Given the description of an element on the screen output the (x, y) to click on. 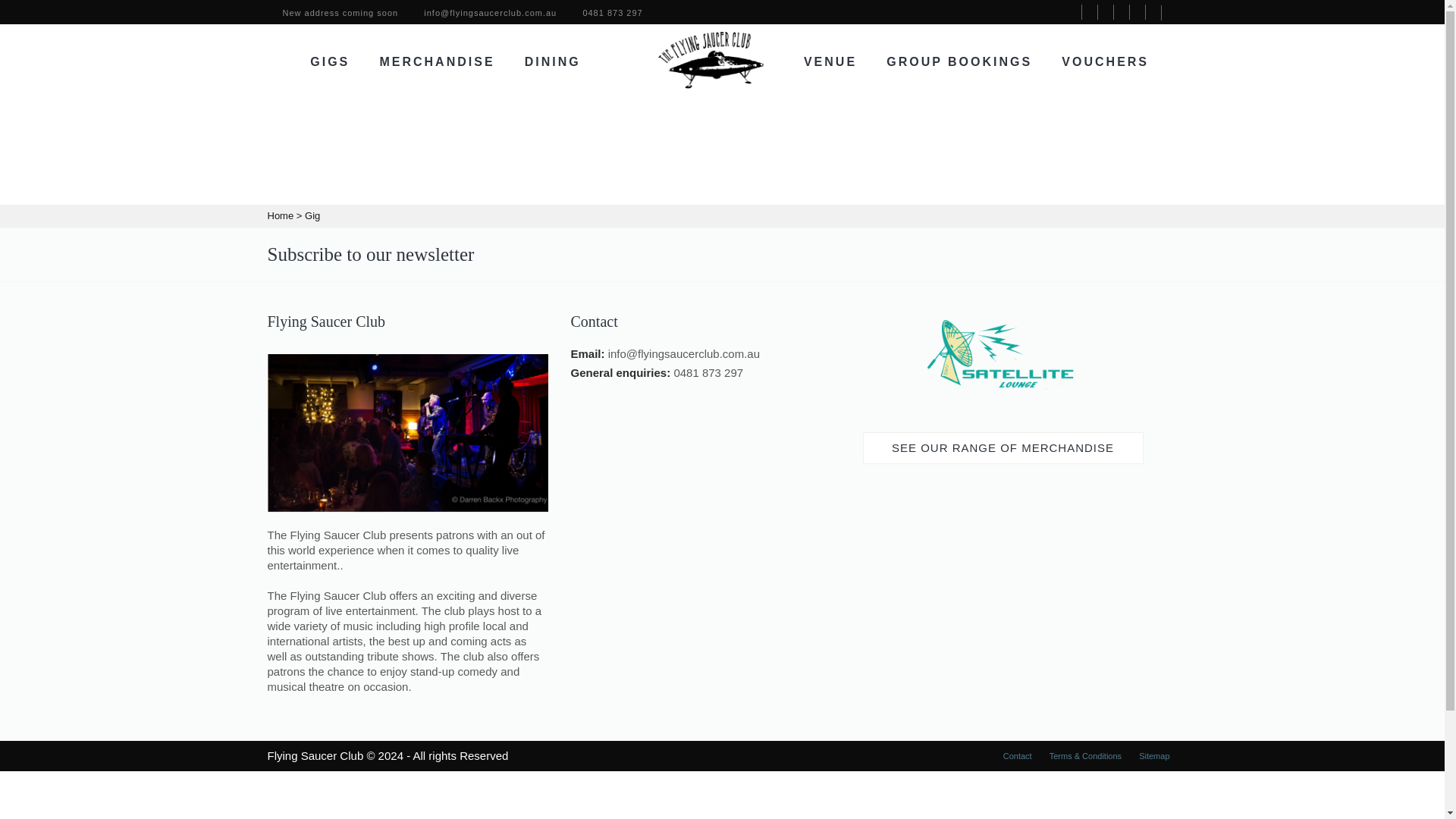
Home (280, 215)
MERCHANDISE (436, 61)
VOUCHERS (1104, 61)
Subscribe to our newsletter (370, 254)
GROUP BOOKINGS (959, 61)
GIGS (329, 61)
Sitemap (1153, 755)
Contact (1017, 755)
SEE OUR RANGE OF MERCHANDISE (1002, 448)
VENUE (830, 61)
DINING (552, 61)
